Given the description of an element on the screen output the (x, y) to click on. 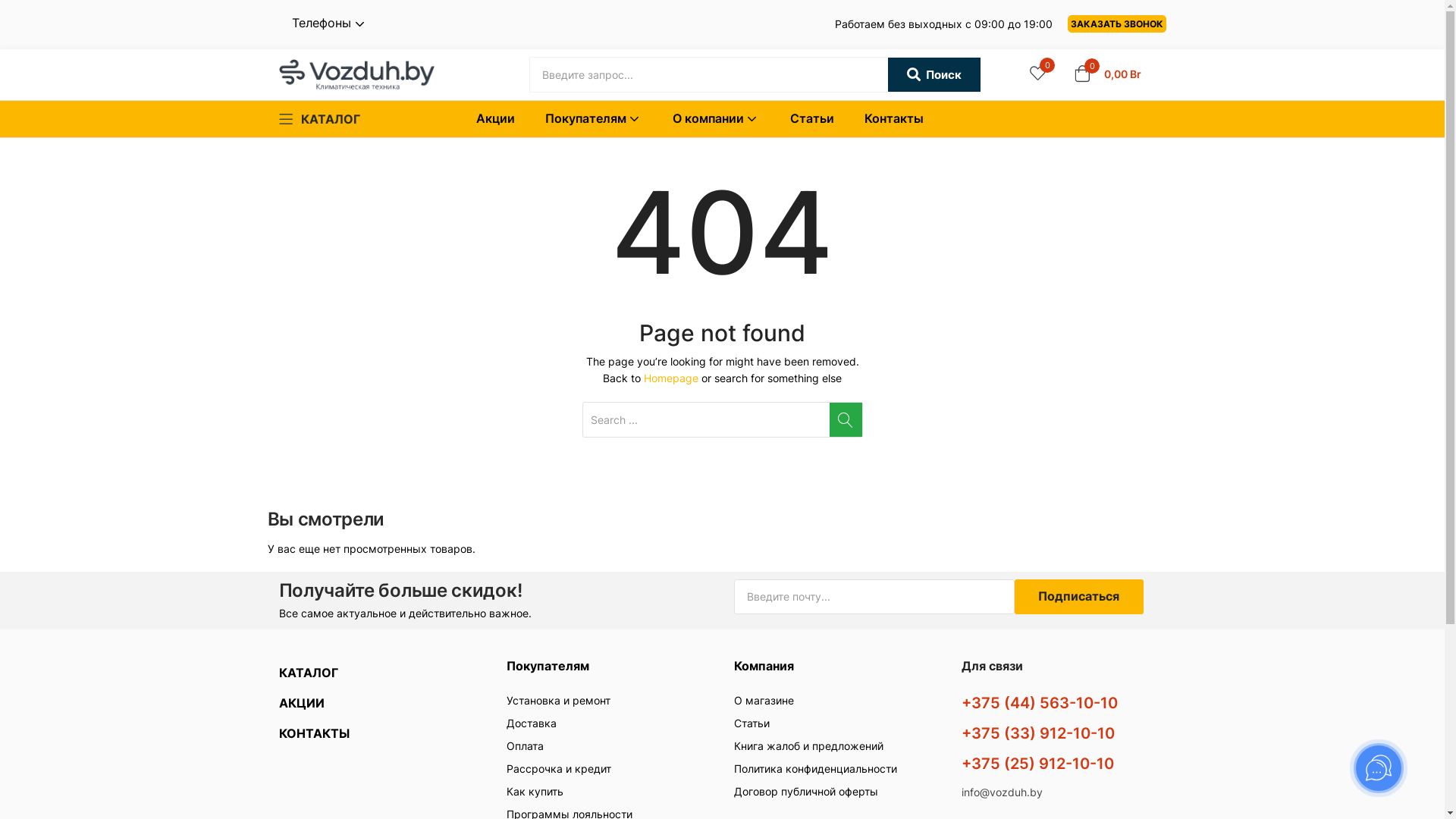
info@vozduh.by Element type: text (1001, 791)
+375 (33) 912-10-10 Element type: text (1037, 733)
+375 (25) 912-10-10 Element type: text (1037, 763)
0 Element type: text (1037, 74)
0
0,00 Br Element type: text (1107, 74)
Homepage Element type: text (670, 377)
+375 (44) 563-10-10 Element type: text (1039, 702)
